Given the description of an element on the screen output the (x, y) to click on. 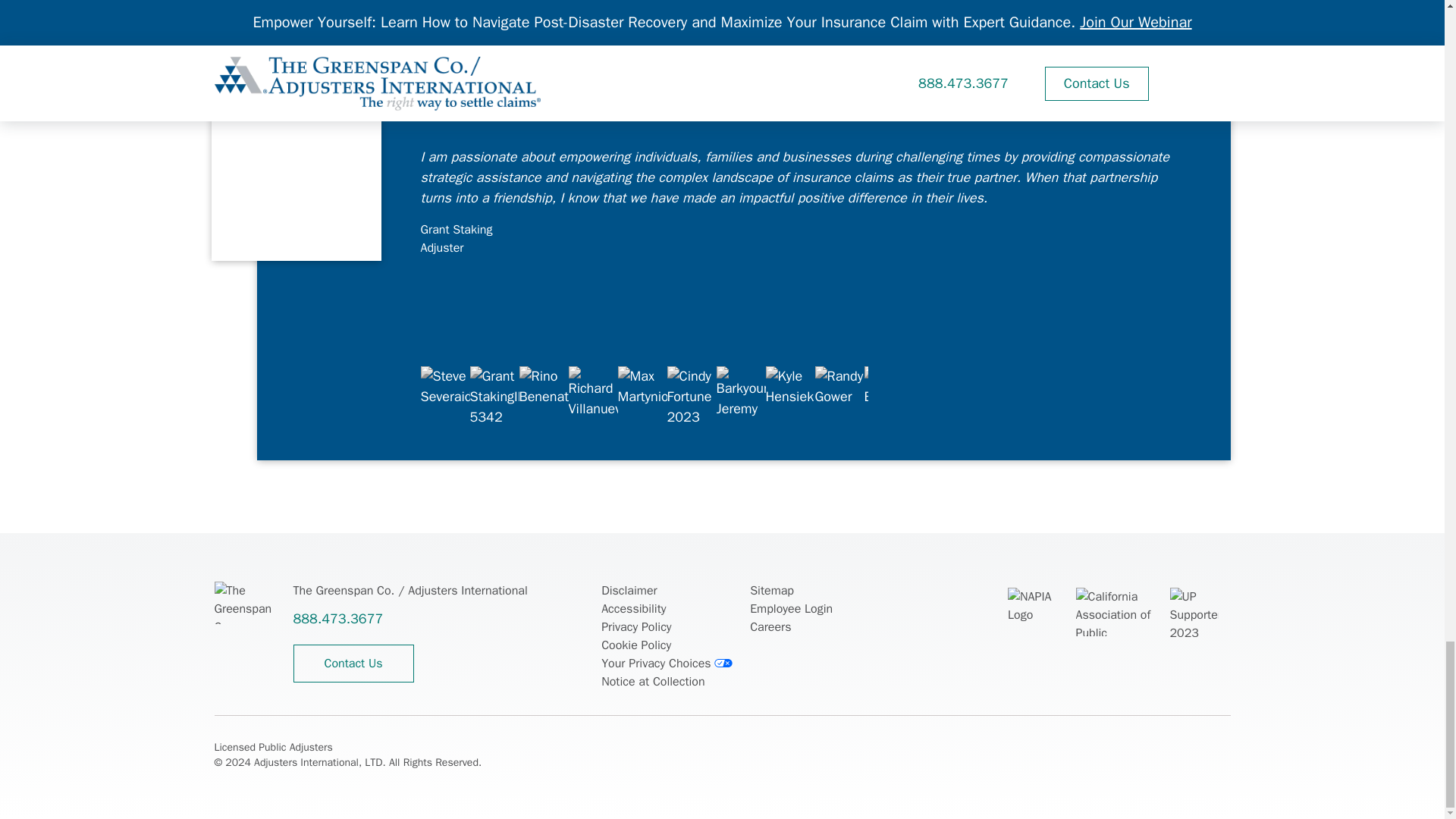
Disclaimer (628, 590)
LinkedIn (1085, 749)
Disclaimer (628, 590)
Your Privacy Choices (663, 663)
Cookie Policy (636, 645)
Twitter (1015, 749)
Sitemap (771, 590)
Employee Login (790, 608)
Notice at Collection (652, 681)
Contact Us (352, 663)
